Given the description of an element on the screen output the (x, y) to click on. 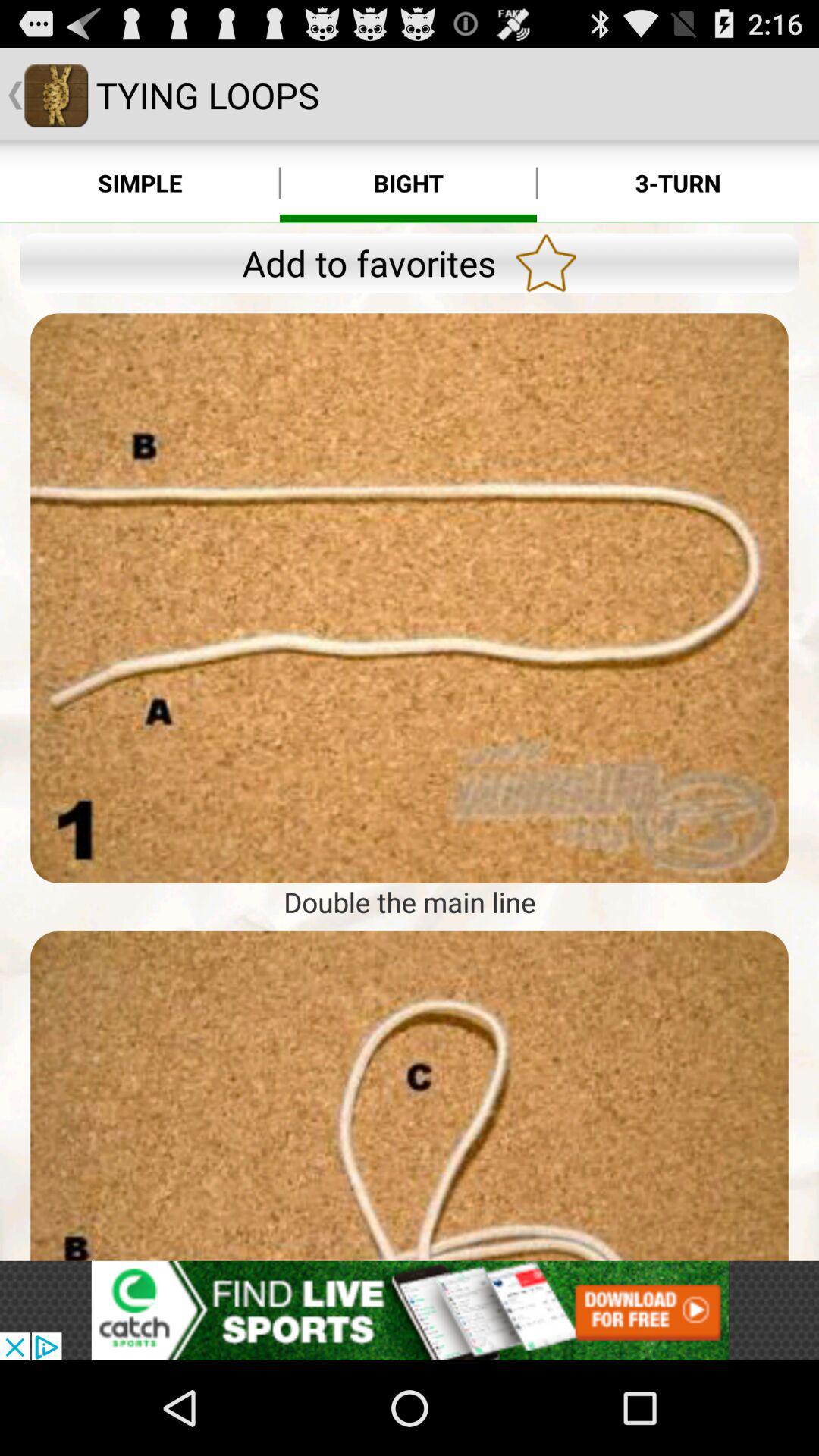
for add (409, 598)
